Given the description of an element on the screen output the (x, y) to click on. 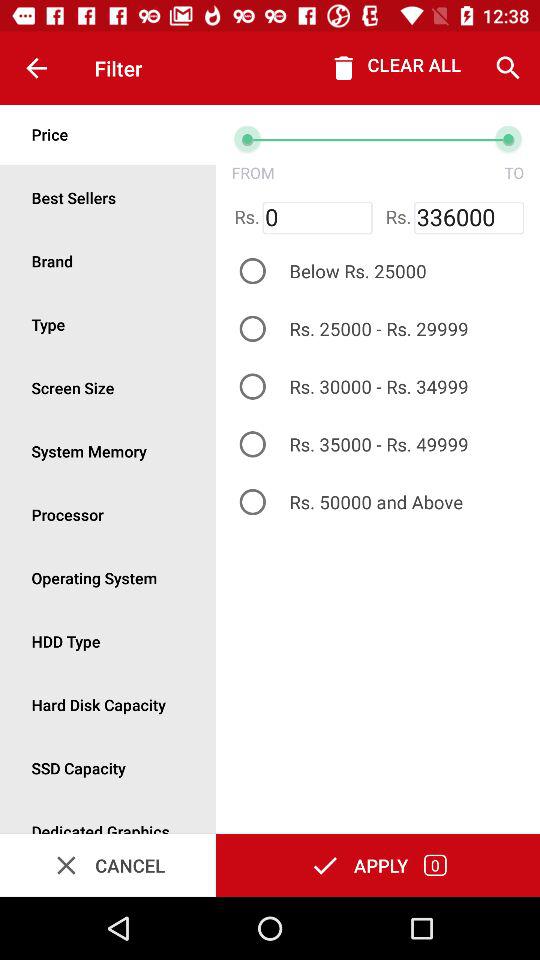
open item next to the clear all (508, 67)
